Given the description of an element on the screen output the (x, y) to click on. 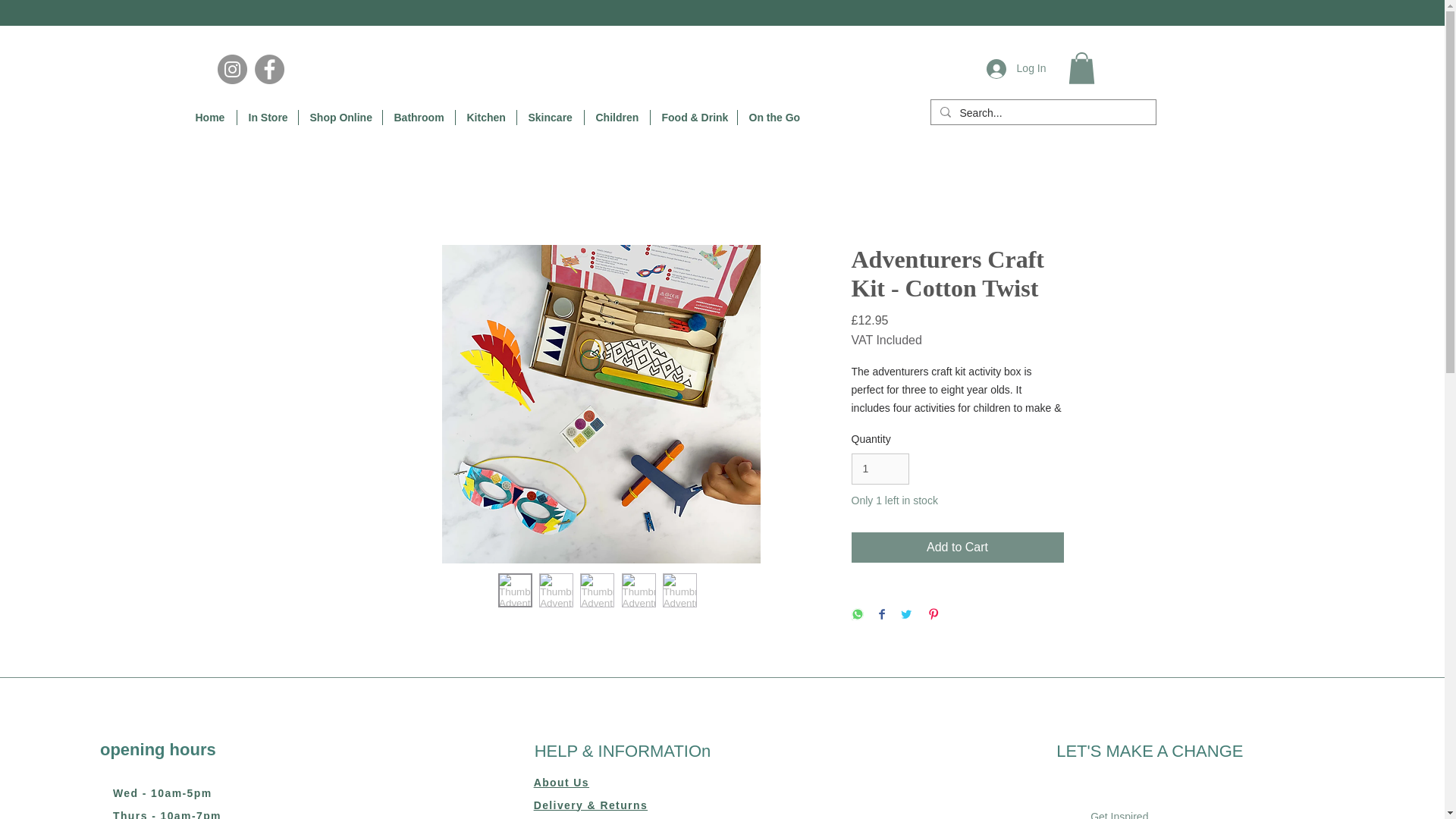
1 (879, 468)
Shop Online (339, 117)
Skincare (549, 117)
About Us (561, 782)
Home (209, 117)
Add to Cart (956, 547)
On the Go (772, 117)
Log In (1016, 68)
Kitchen (484, 117)
Bathroom (417, 117)
